Given the description of an element on the screen output the (x, y) to click on. 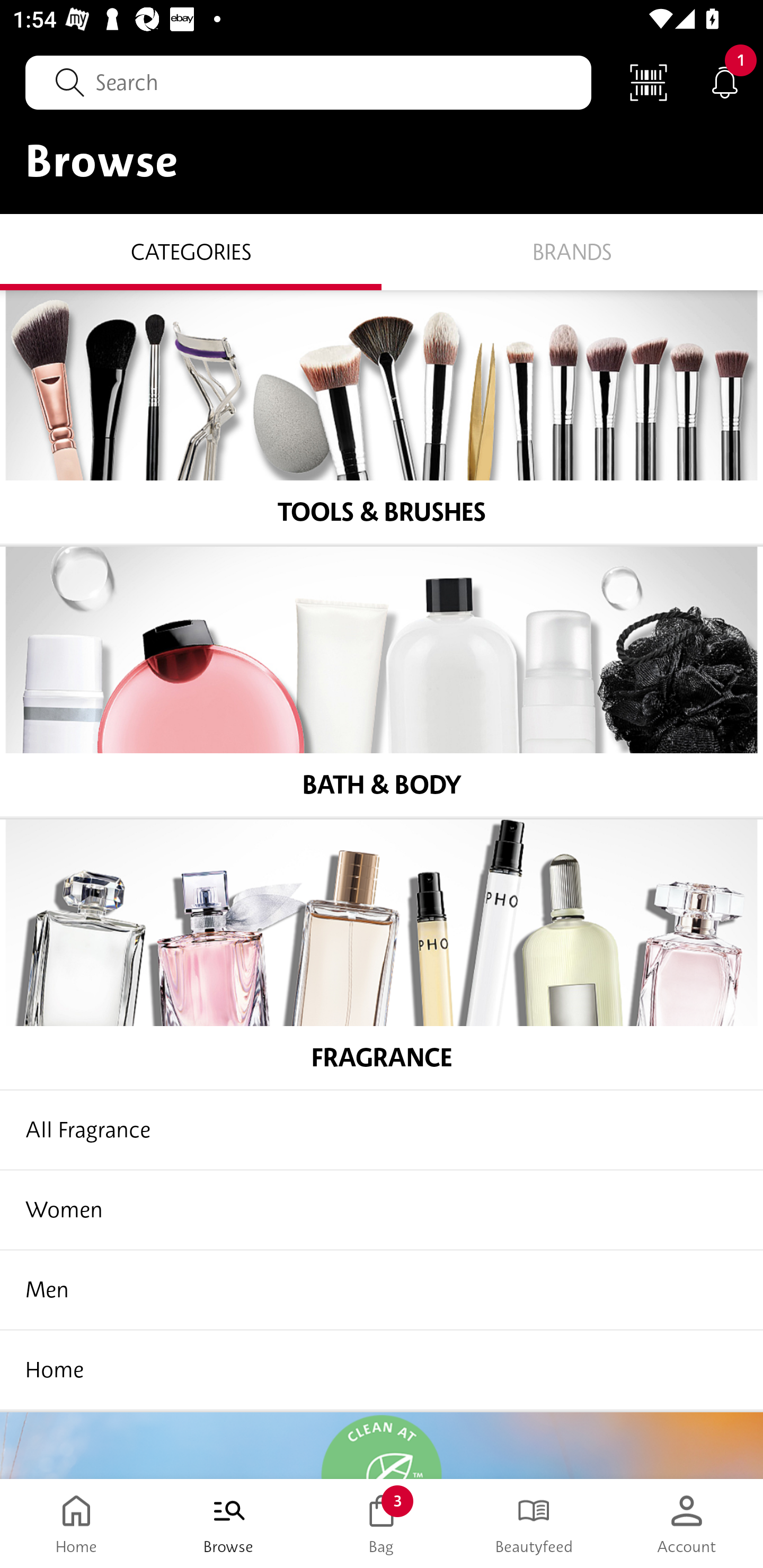
Scan Code (648, 81)
Notifications (724, 81)
Search (308, 81)
Brands BRANDS (572, 251)
TOOLS & BRUSHES (381, 417)
BATH & BODY (381, 682)
FRAGRANCE All Fragrance Women Men Home (381, 1115)
All Fragrance (381, 1131)
Women (381, 1211)
Men (381, 1291)
Home (381, 1371)
Home (76, 1523)
Bag 3 Bag (381, 1523)
Beautyfeed (533, 1523)
Account (686, 1523)
